Given the description of an element on the screen output the (x, y) to click on. 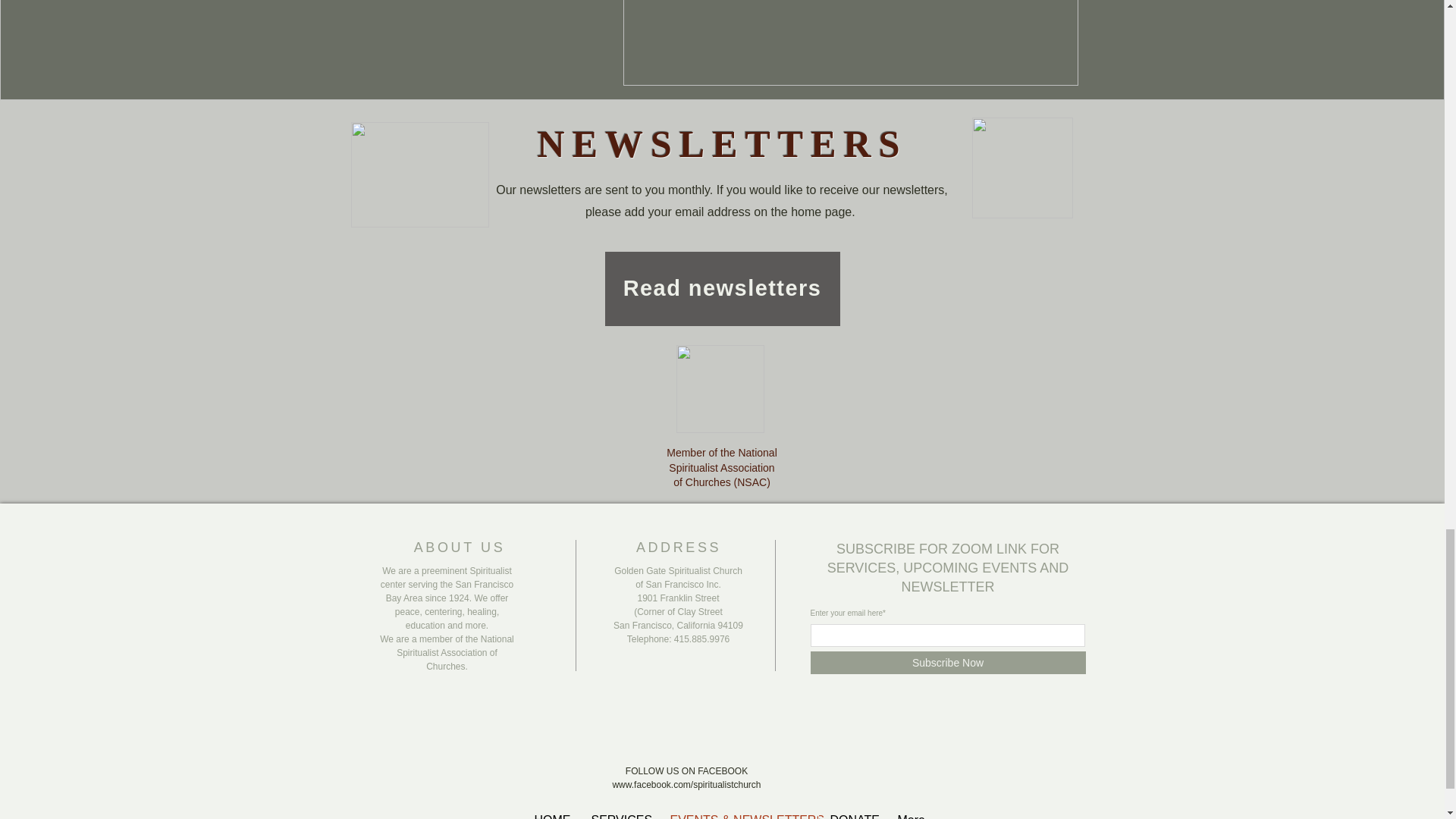
HOME (550, 805)
Subscribe Now (946, 662)
DONATE (851, 805)
SERVICES (618, 805)
Read newsletters (722, 288)
sunflower 7.jpg (418, 174)
